Given the description of an element on the screen output the (x, y) to click on. 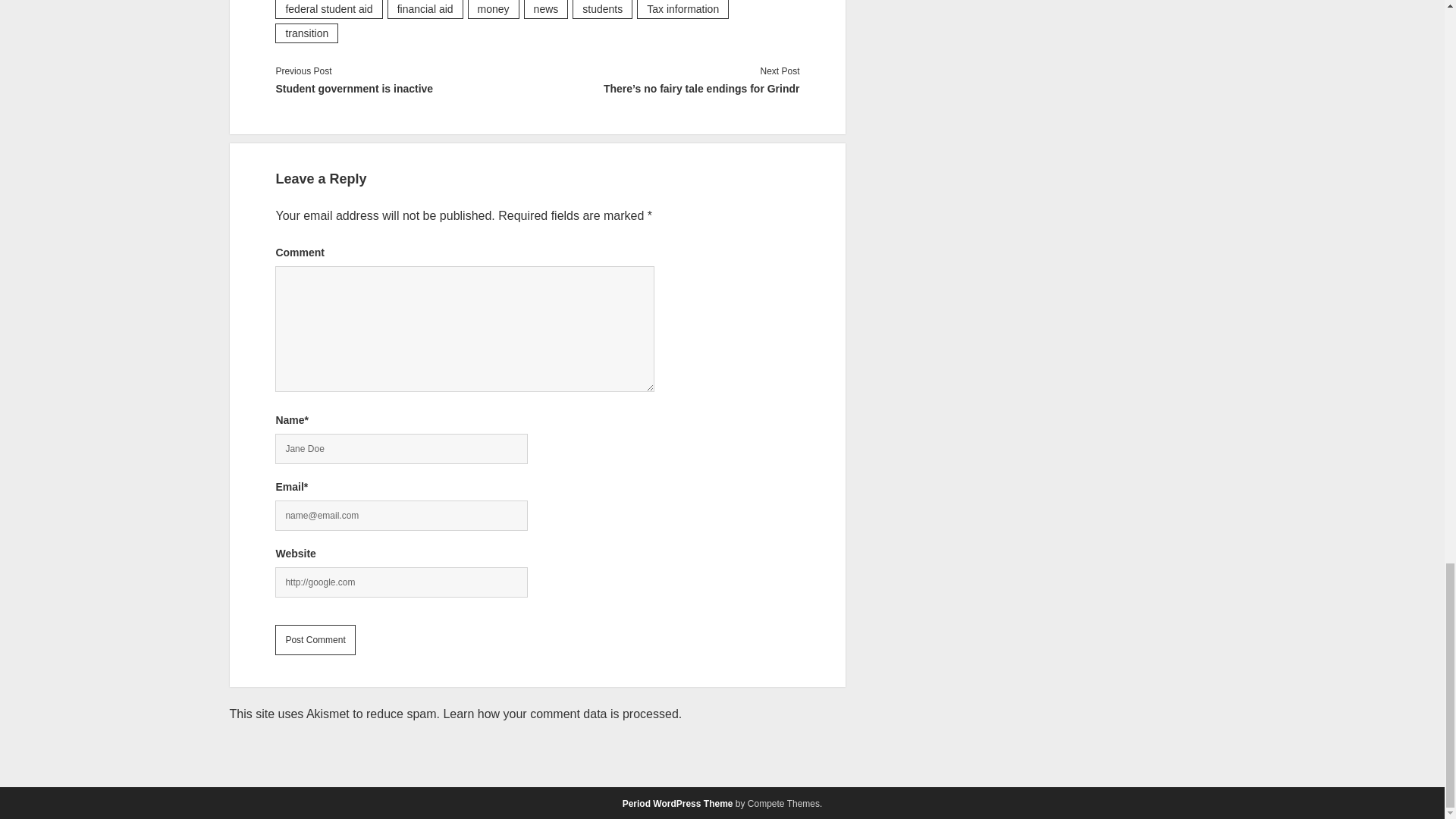
View all posts tagged students (601, 9)
View all posts tagged Tax information (683, 9)
Post Comment (315, 639)
View all posts tagged transition (306, 33)
View all posts tagged money (493, 9)
View all posts tagged federal student aid (328, 9)
View all posts tagged financial aid (425, 9)
View all posts tagged news (546, 9)
